Given the description of an element on the screen output the (x, y) to click on. 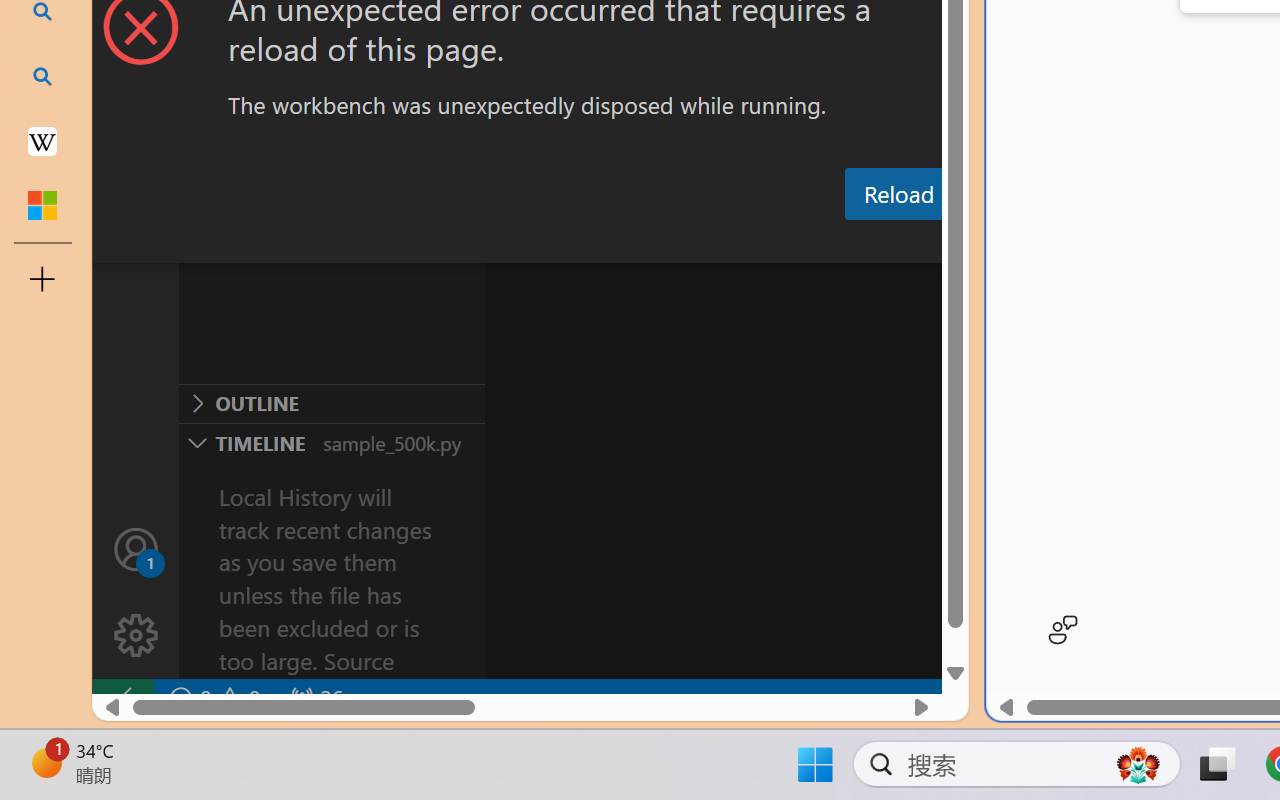
Terminal (Ctrl+`) (1021, 243)
Reload (898, 193)
Problems (Ctrl+Shift+M) (567, 243)
Manage (135, 591)
